Given the description of an element on the screen output the (x, y) to click on. 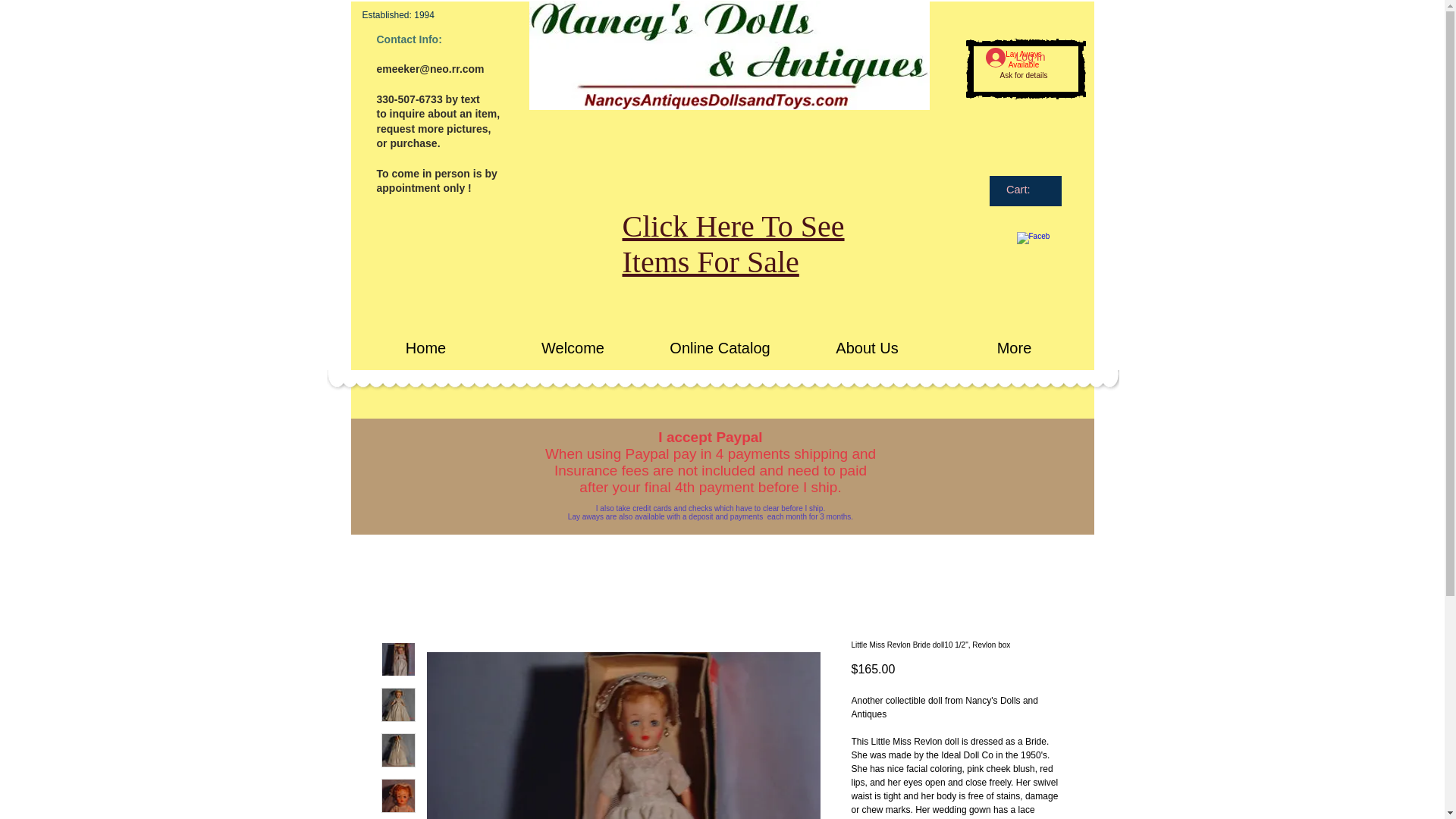
Welcome (572, 347)
Cart: (1025, 189)
Online Catalog (719, 347)
Home (425, 347)
Cart: (1025, 189)
Log In (1016, 57)
About Us (866, 347)
Click Here To See Items For Sale (732, 244)
